Given the description of an element on the screen output the (x, y) to click on. 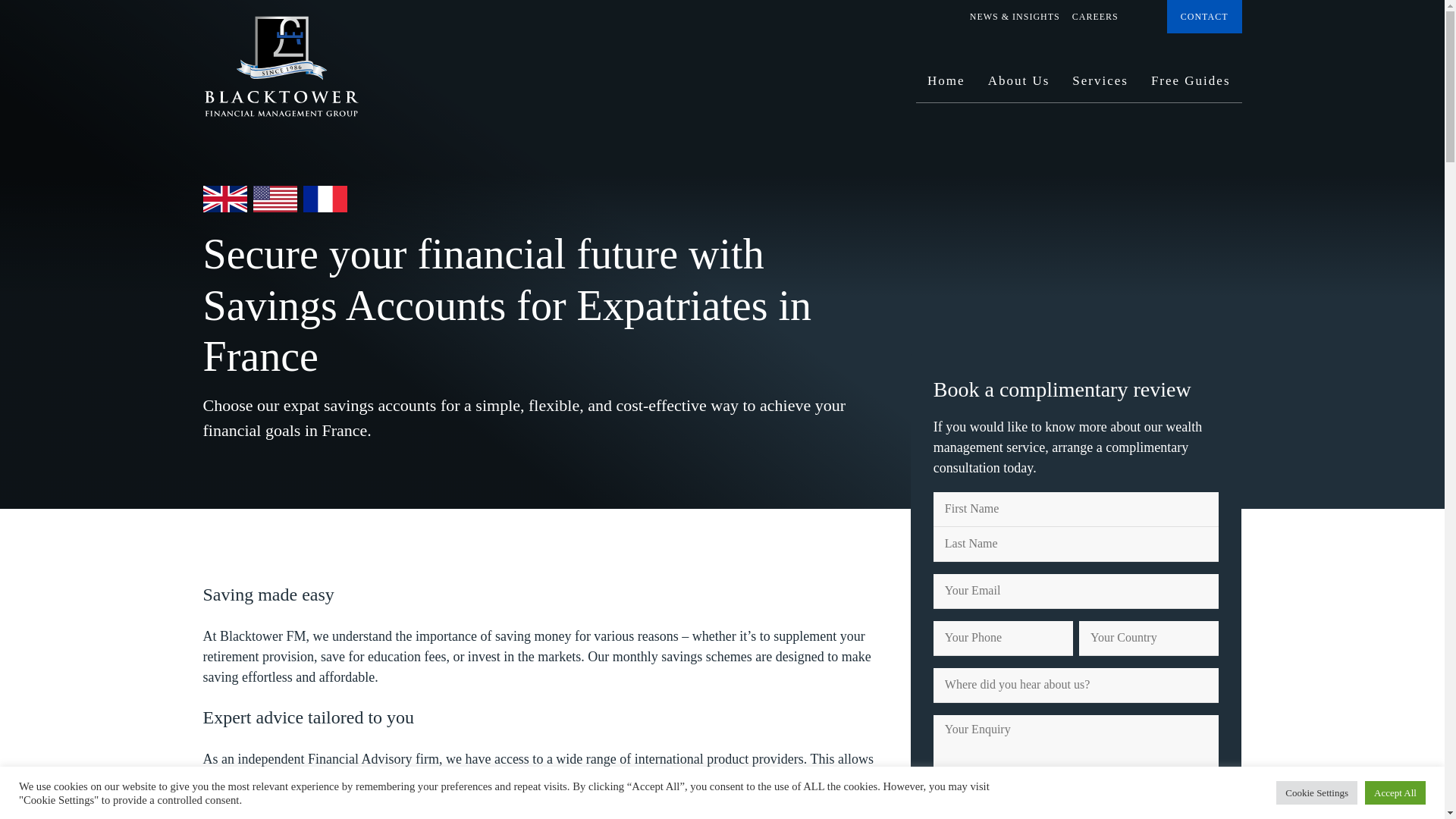
CONTACT (1204, 16)
Free Guides (1190, 87)
About Us (1018, 87)
CAREERS (1094, 16)
Home (945, 87)
Services (1100, 87)
